Given the description of an element on the screen output the (x, y) to click on. 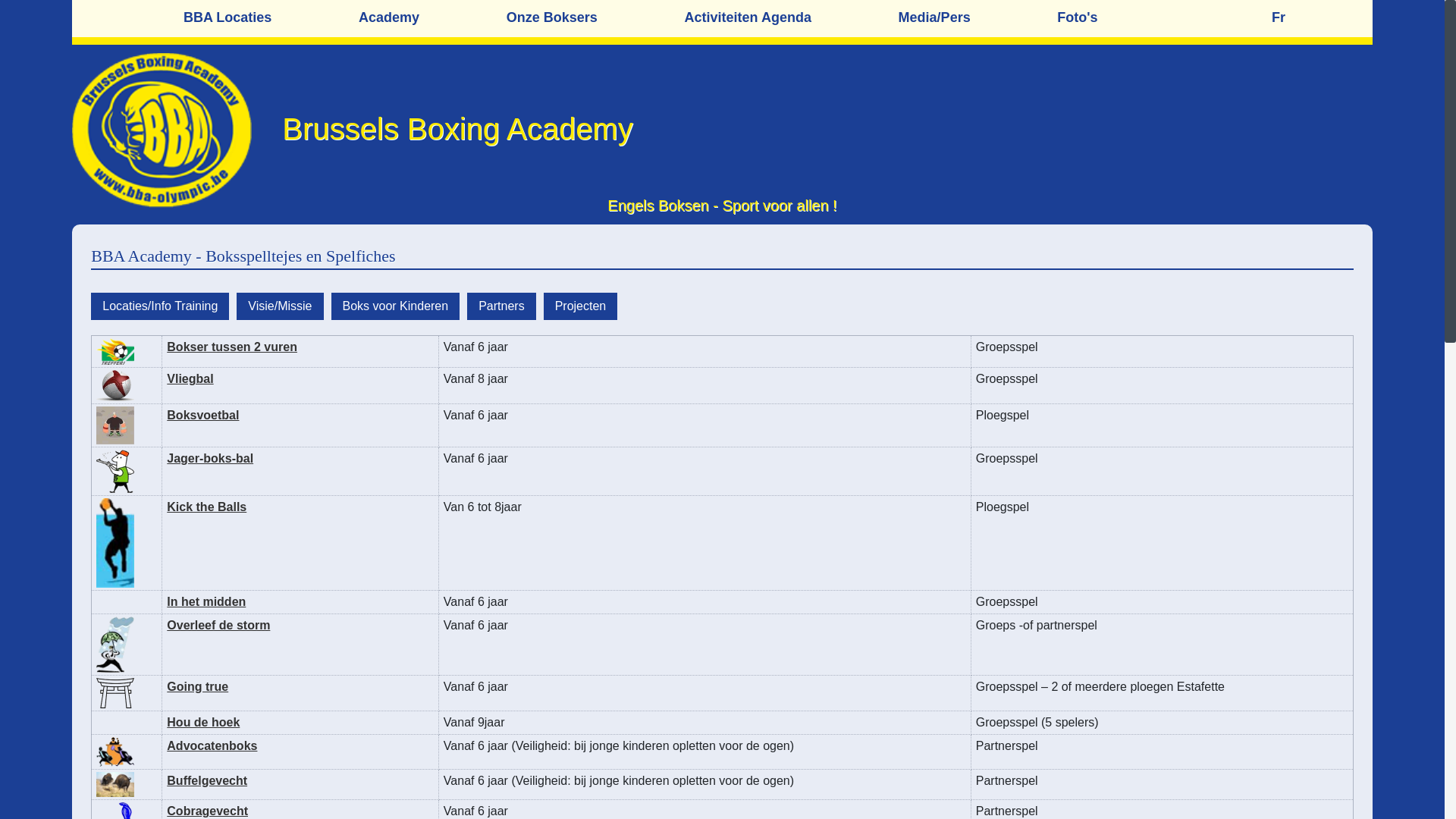
Boks voor Kinderen Element type: text (395, 304)
Vliegbal Element type: text (189, 378)
Media/Pers Element type: text (977, 18)
BBA Locaties Element type: text (270, 18)
Buffelgevecht Element type: text (206, 780)
Projecten Element type: text (580, 304)
Contact Element type: hover (1227, 8)
In het midden Element type: text (205, 601)
Kick the Balls Element type: text (206, 506)
Partners Element type: text (501, 304)
Jager-boks-bal Element type: text (209, 457)
Going true Element type: text (197, 686)
Overleef de storm Element type: text (217, 624)
Locaties/Info Training Element type: text (160, 304)
Hou de hoek Element type: text (202, 721)
Activiteiten Agenda Element type: text (791, 18)
Advocatenboks Element type: text (211, 745)
Boksvoetbal Element type: text (202, 414)
Home Element type: hover (139, 8)
Foto's Element type: text (1120, 18)
BBA Facebook Element type: hover (1345, 251)
Fr Element type: text (1321, 18)
Onze Boksers Element type: text (595, 18)
Cobragevecht Element type: text (206, 810)
Visie/Missie Element type: text (279, 304)
Academy Element type: text (432, 18)
Bokser tussen 2 vuren Element type: text (231, 346)
